Given the description of an element on the screen output the (x, y) to click on. 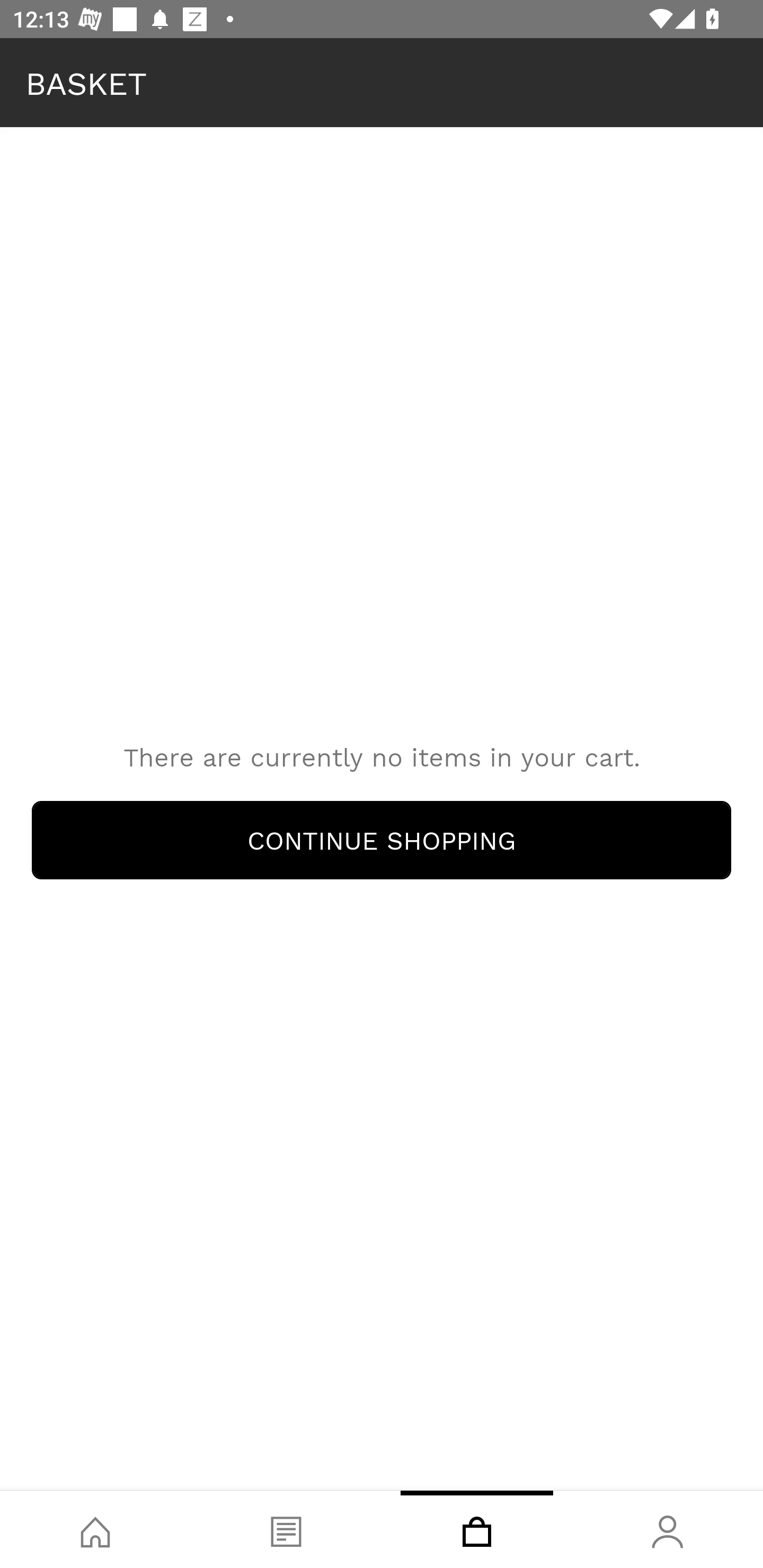
Continue Shopping CONTINUE SHOPPING (381, 840)
Shop, tab, 1 of 4 (95, 1529)
Blog, tab, 2 of 4 (285, 1529)
Basket, tab, 3 of 4 (476, 1529)
Account, tab, 4 of 4 (667, 1529)
